Given the description of an element on the screen output the (x, y) to click on. 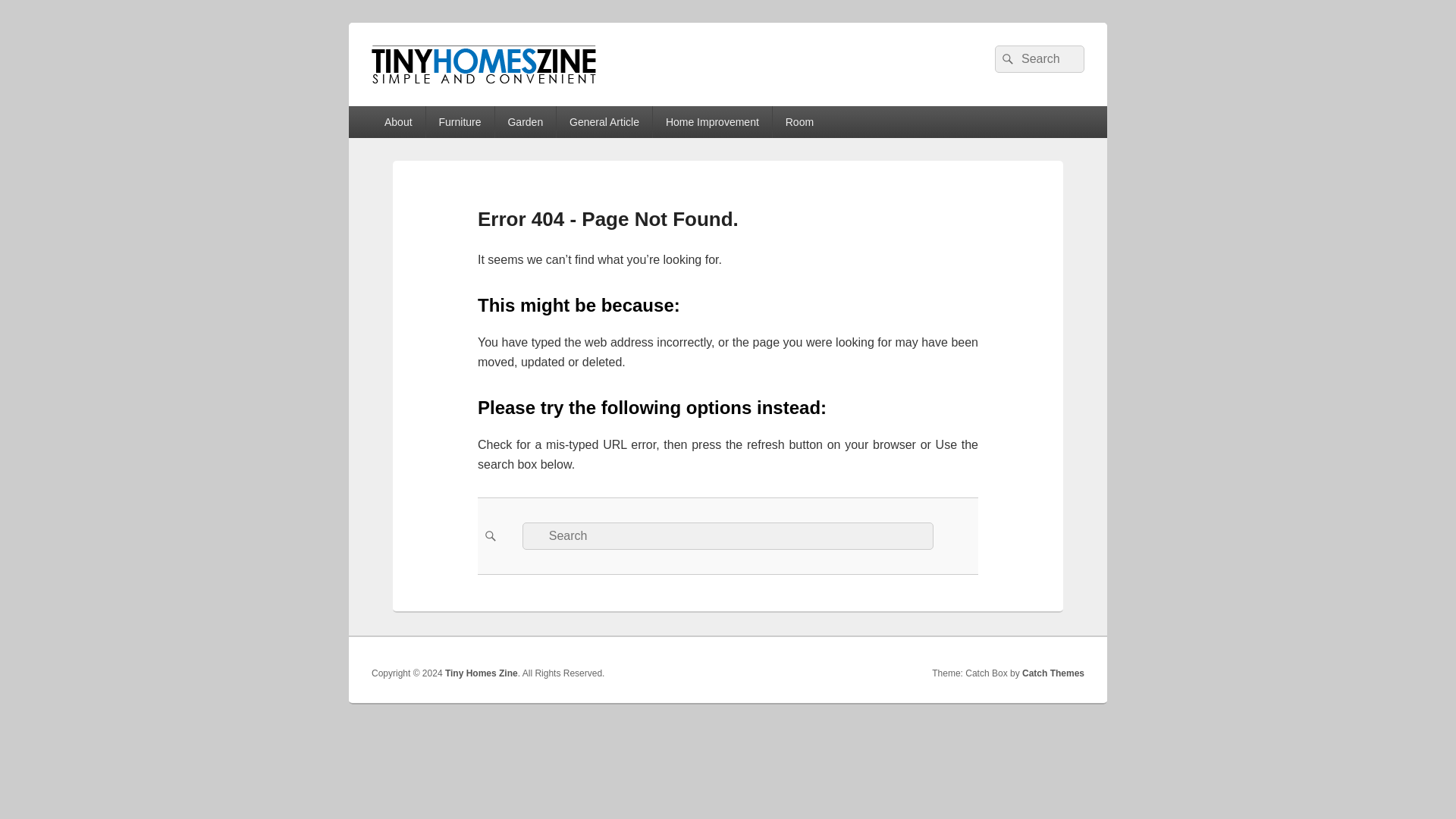
General Article (604, 122)
Tiny Homes Zine (481, 673)
Catch Themes (1053, 673)
About (398, 122)
Tiny Homes Zine (480, 100)
Garden (525, 122)
Furniture (460, 122)
Search for: (728, 535)
Home Improvement (711, 122)
Search for: (1039, 58)
